Given the description of an element on the screen output the (x, y) to click on. 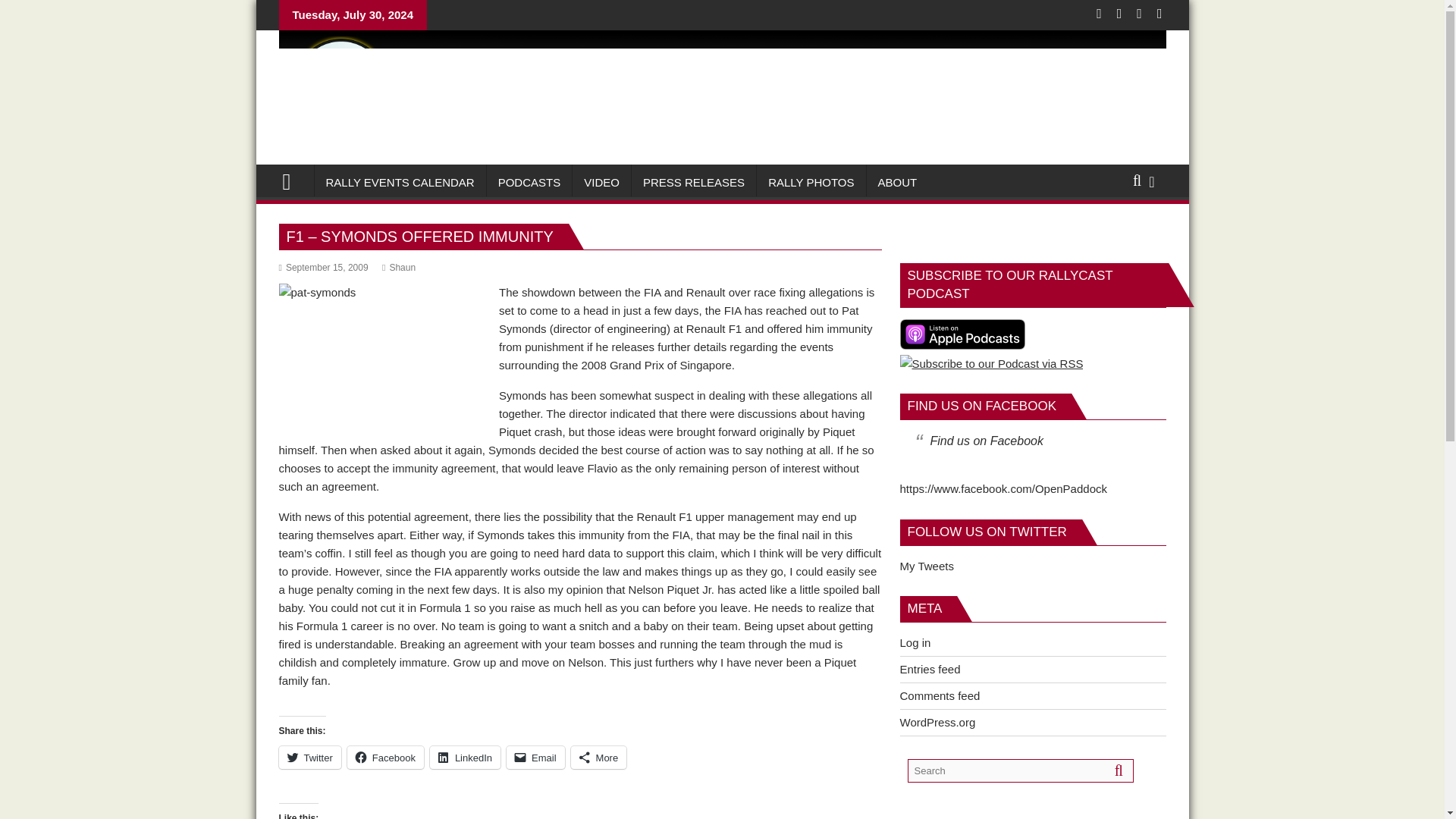
VIDEO (601, 182)
More (598, 757)
Shaun (397, 267)
Click to share on Facebook (385, 757)
RALLY PHOTOS (810, 182)
RALLY EVENTS CALENDAR (399, 182)
OpenPaddock.net (293, 179)
Click to email a link to a friend (535, 757)
LinkedIn (464, 757)
Facebook (385, 757)
PRESS RELEASES (693, 182)
Twitter (309, 757)
Click to share on Twitter (309, 757)
OpenPaddock.net (722, 136)
Email (535, 757)
